Given the description of an element on the screen output the (x, y) to click on. 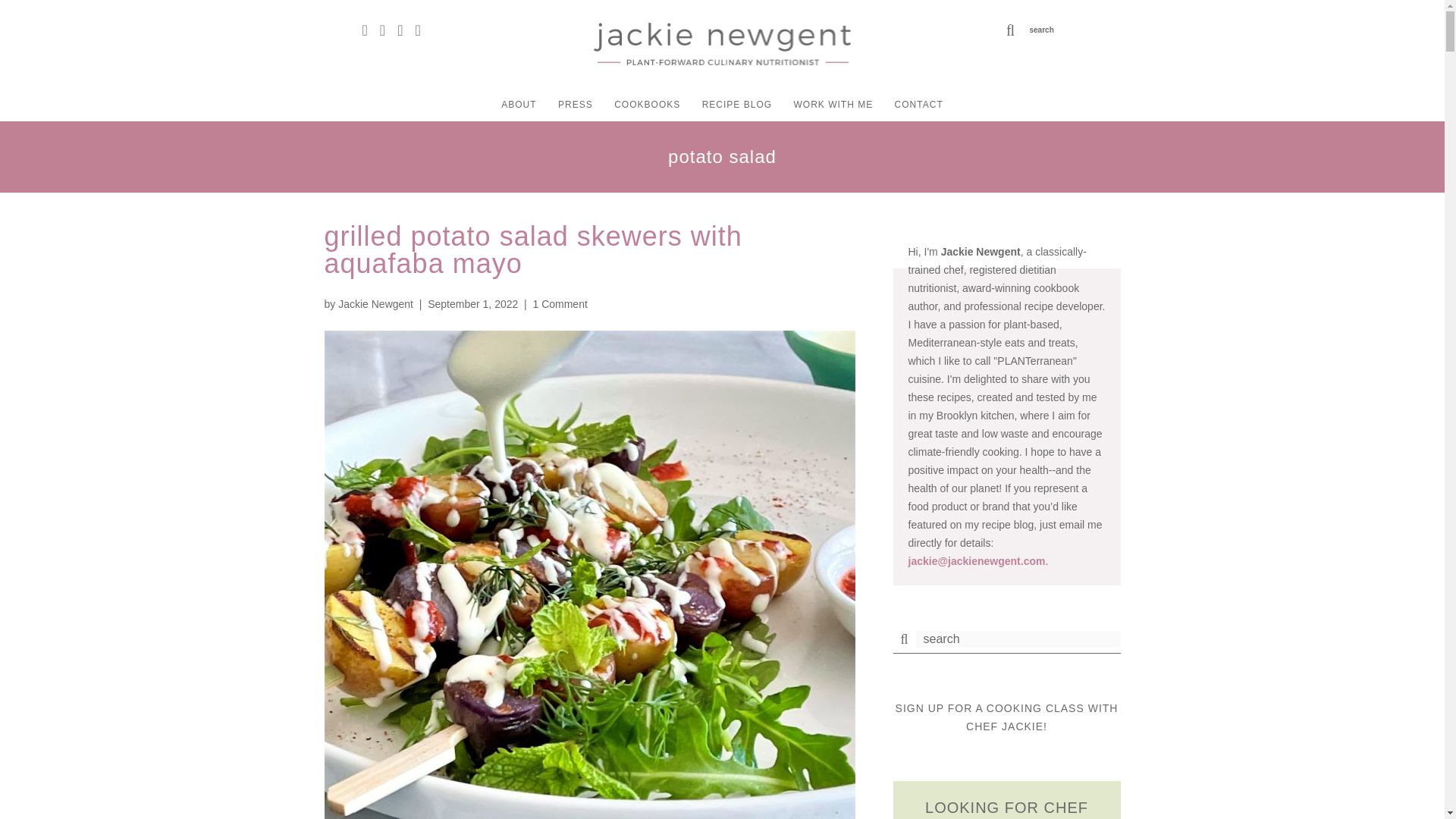
WORK WITH ME (832, 104)
Search (25, 9)
COOKBOOKS (646, 104)
PRESS (574, 104)
ABOUT (517, 104)
RECIPE BLOG (736, 104)
